Given the description of an element on the screen output the (x, y) to click on. 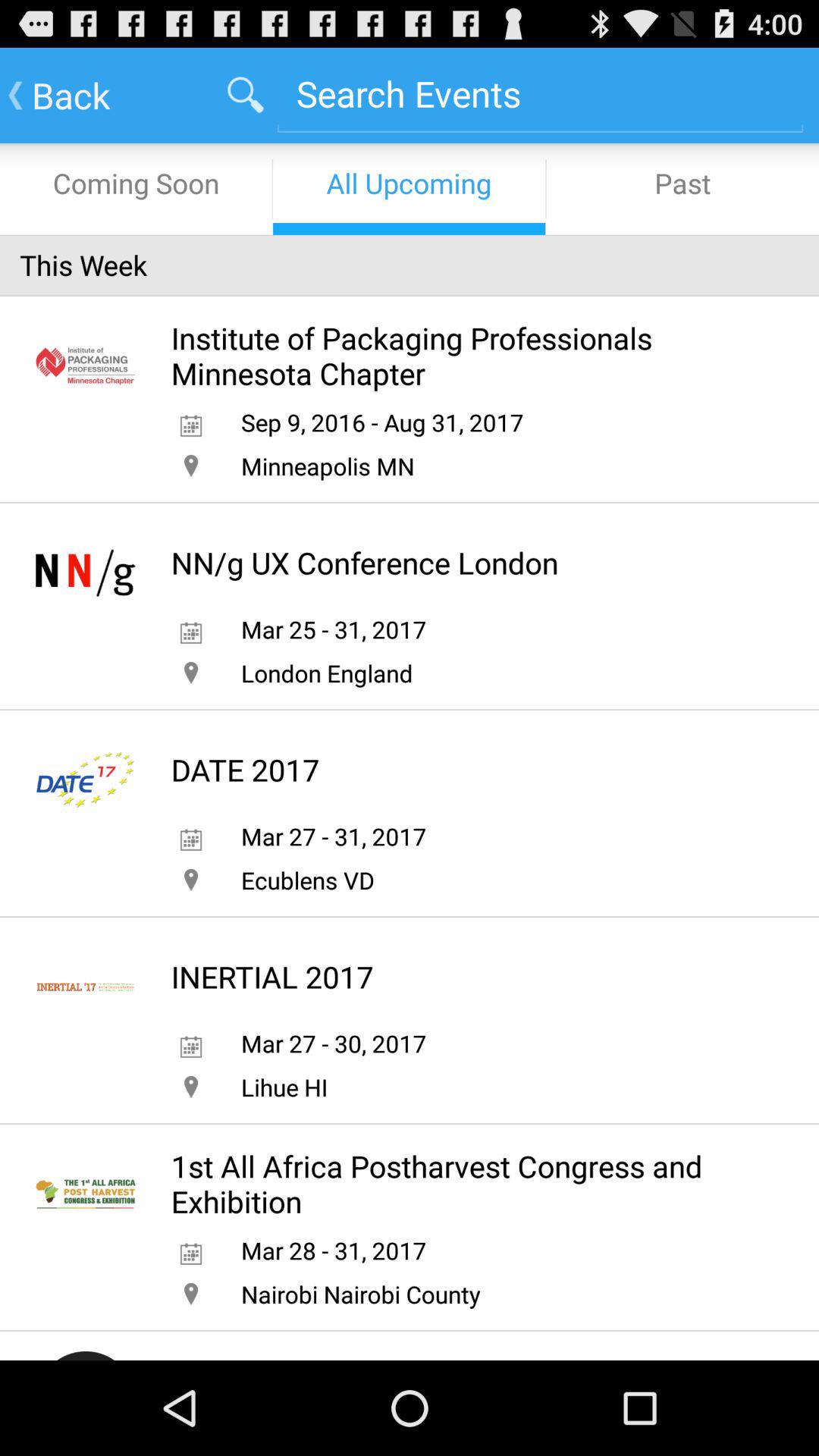
swipe until institute of packaging item (463, 355)
